Given the description of an element on the screen output the (x, y) to click on. 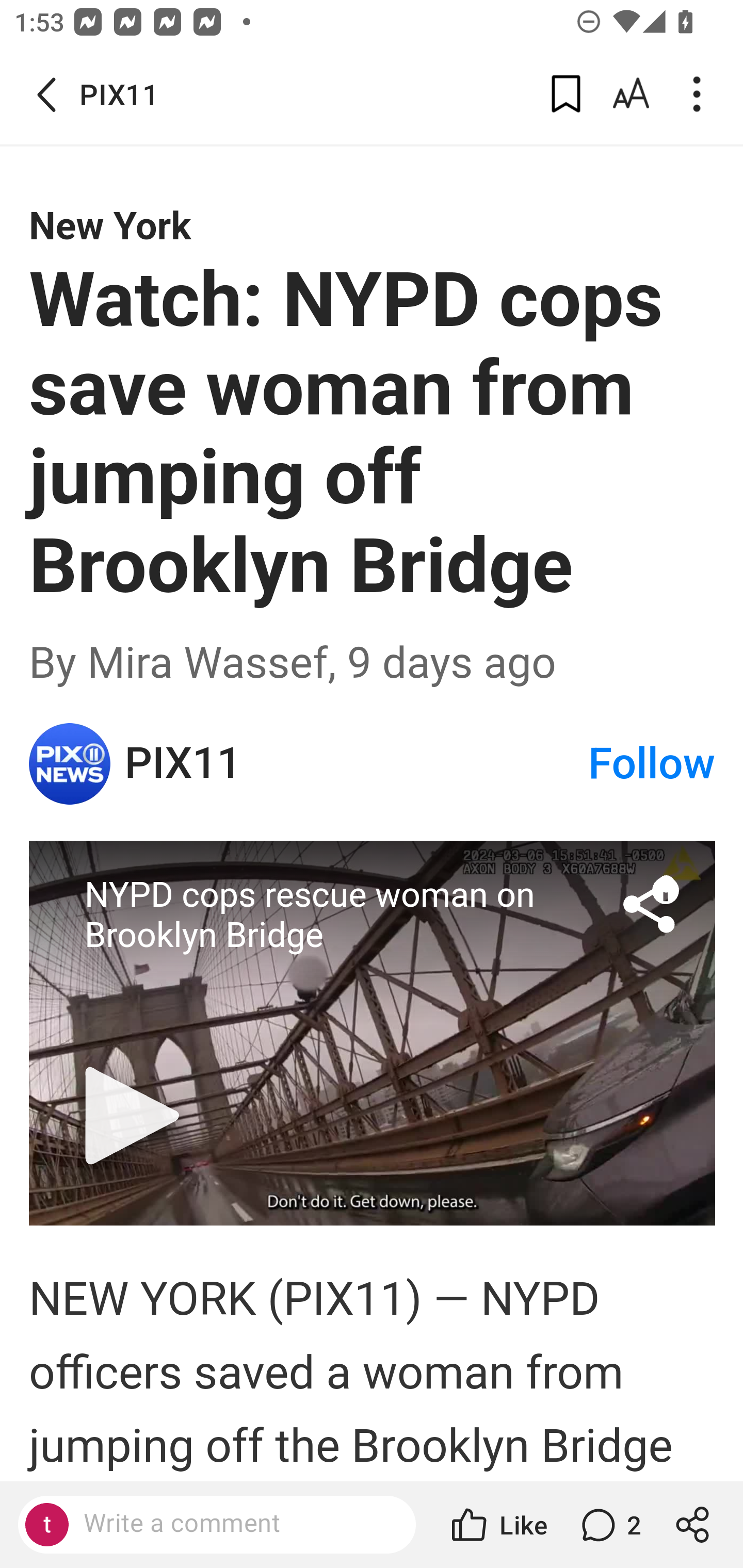
PIX11 (70, 763)
PIX11 (355, 763)
Follow (651, 763)
NYPD cops rescue woman on Brooklyn Bridge (372, 1033)
Like (497, 1524)
2 (608, 1524)
Write a comment (234, 1523)
